Given the description of an element on the screen output the (x, y) to click on. 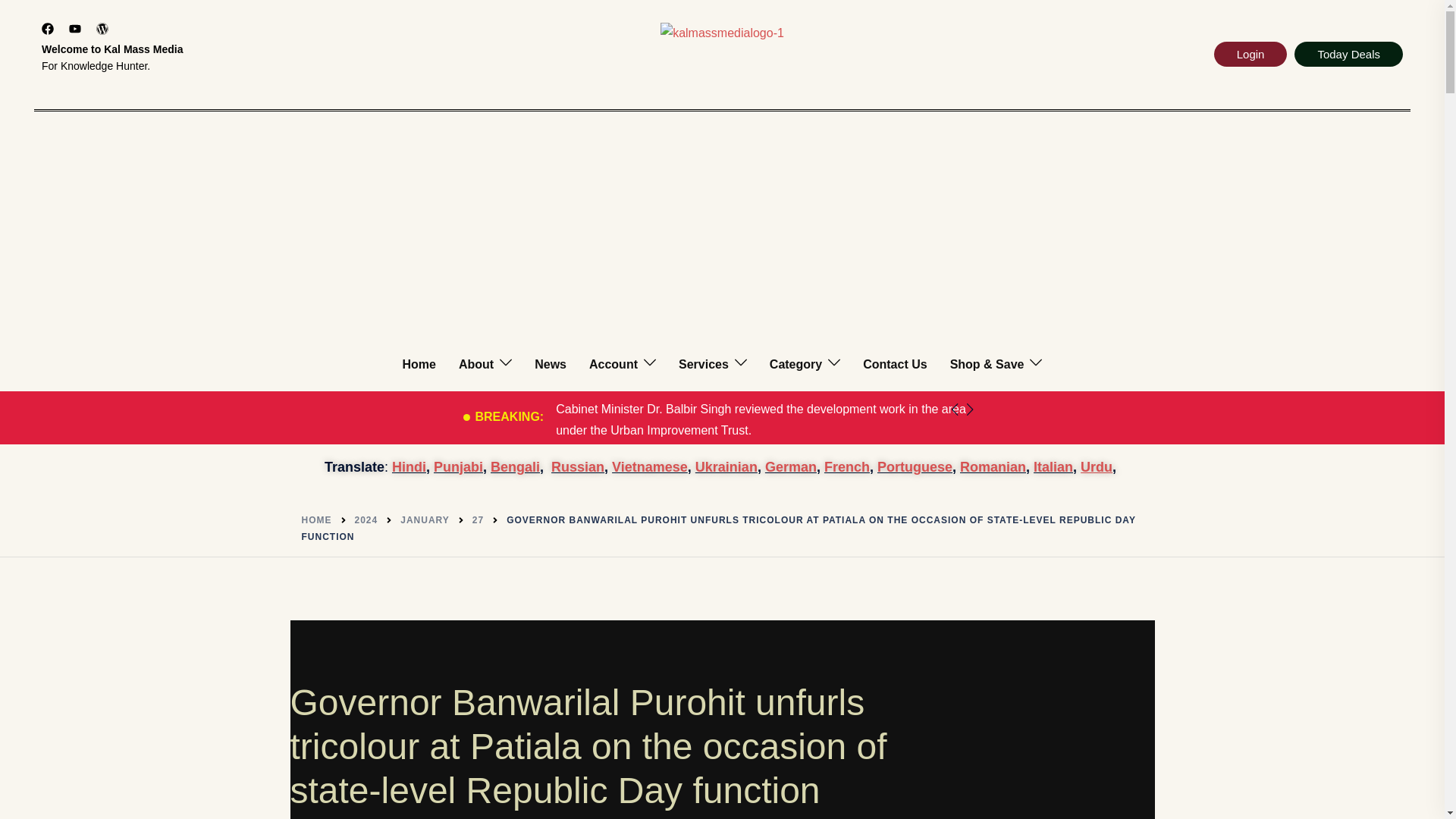
Services (703, 364)
Today Deals (1348, 53)
About (475, 364)
Home (419, 364)
News (550, 364)
Account (613, 364)
Login (1250, 53)
Category (796, 364)
